Given the description of an element on the screen output the (x, y) to click on. 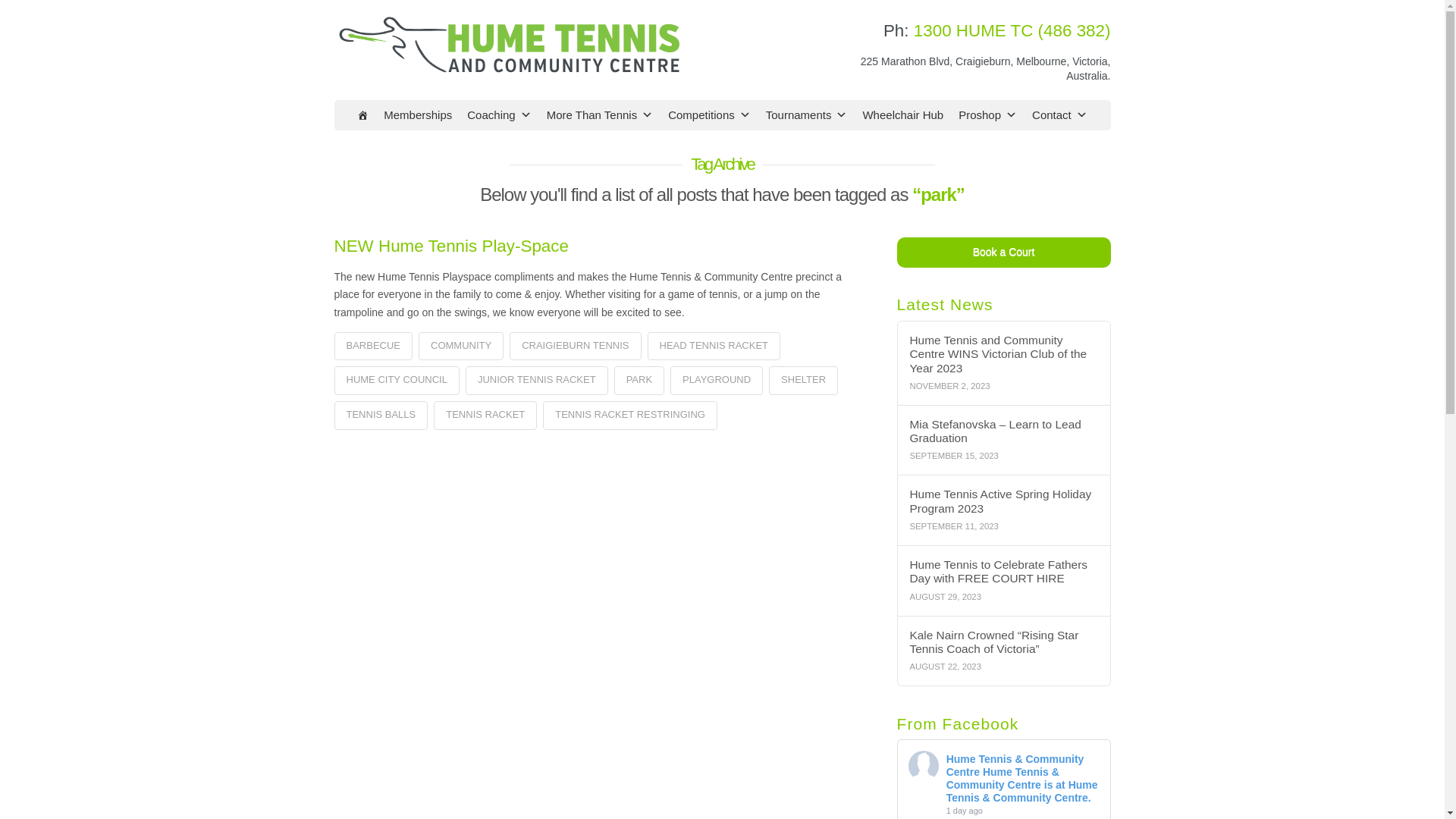
1300 HUME TC (486 382) Element type: text (1011, 30)
Hume Tennis Active Spring Holiday Program 2023 Element type: text (1003, 501)
Tournaments Element type: text (806, 115)
Memberships Element type: text (417, 115)
COMMUNITY Element type: text (460, 346)
Wheelchair Hub Element type: text (902, 115)
CRAIGIEBURN TENNIS Element type: text (574, 346)
BARBECUE Element type: text (372, 346)
Hume Tennis to Celebrate Fathers Day with FREE COURT HIRE Element type: text (1003, 572)
TENNIS BALLS Element type: text (380, 415)
TENNIS RACKET RESTRINGING Element type: text (629, 415)
Book a Court Element type: text (1003, 252)
Contact Element type: text (1059, 115)
Proshop Element type: text (987, 115)
PARK Element type: text (639, 380)
JUNIOR TENNIS RACKET Element type: text (536, 380)
HUME CITY COUNCIL Element type: text (395, 380)
HEAD TENNIS RACKET Element type: text (714, 346)
More Than Tennis Element type: text (600, 115)
Coaching Element type: text (498, 115)
SHELTER Element type: text (802, 380)
PLAYGROUND Element type: text (716, 380)
Hume Tennis & Community Centre Element type: text (1015, 765)
NEW Hume Tennis Play-Space Element type: text (450, 245)
Competitions Element type: text (709, 115)
TENNIS RACKET Element type: text (484, 415)
